Given the description of an element on the screen output the (x, y) to click on. 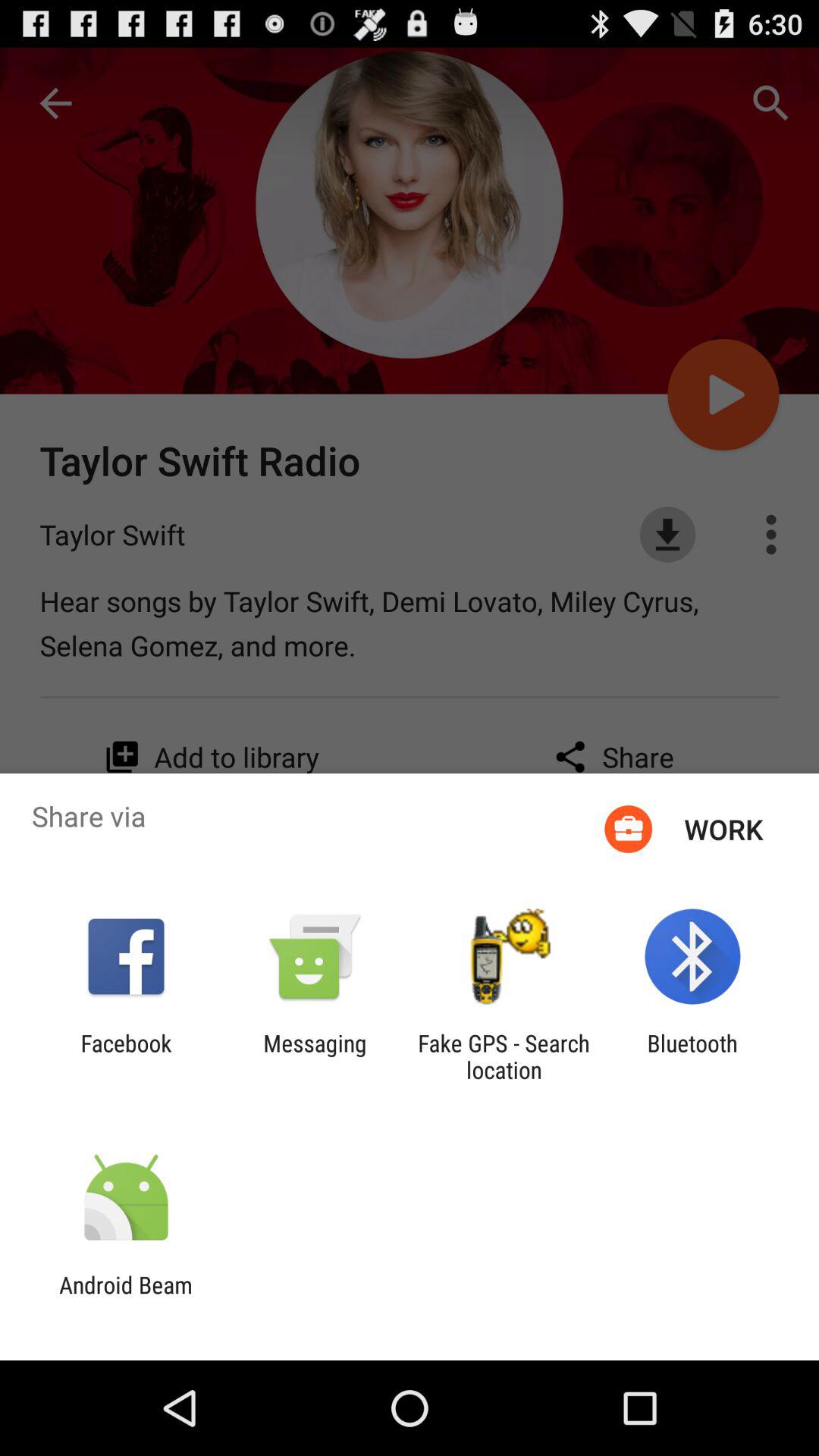
turn off icon next to messaging app (125, 1056)
